Given the description of an element on the screen output the (x, y) to click on. 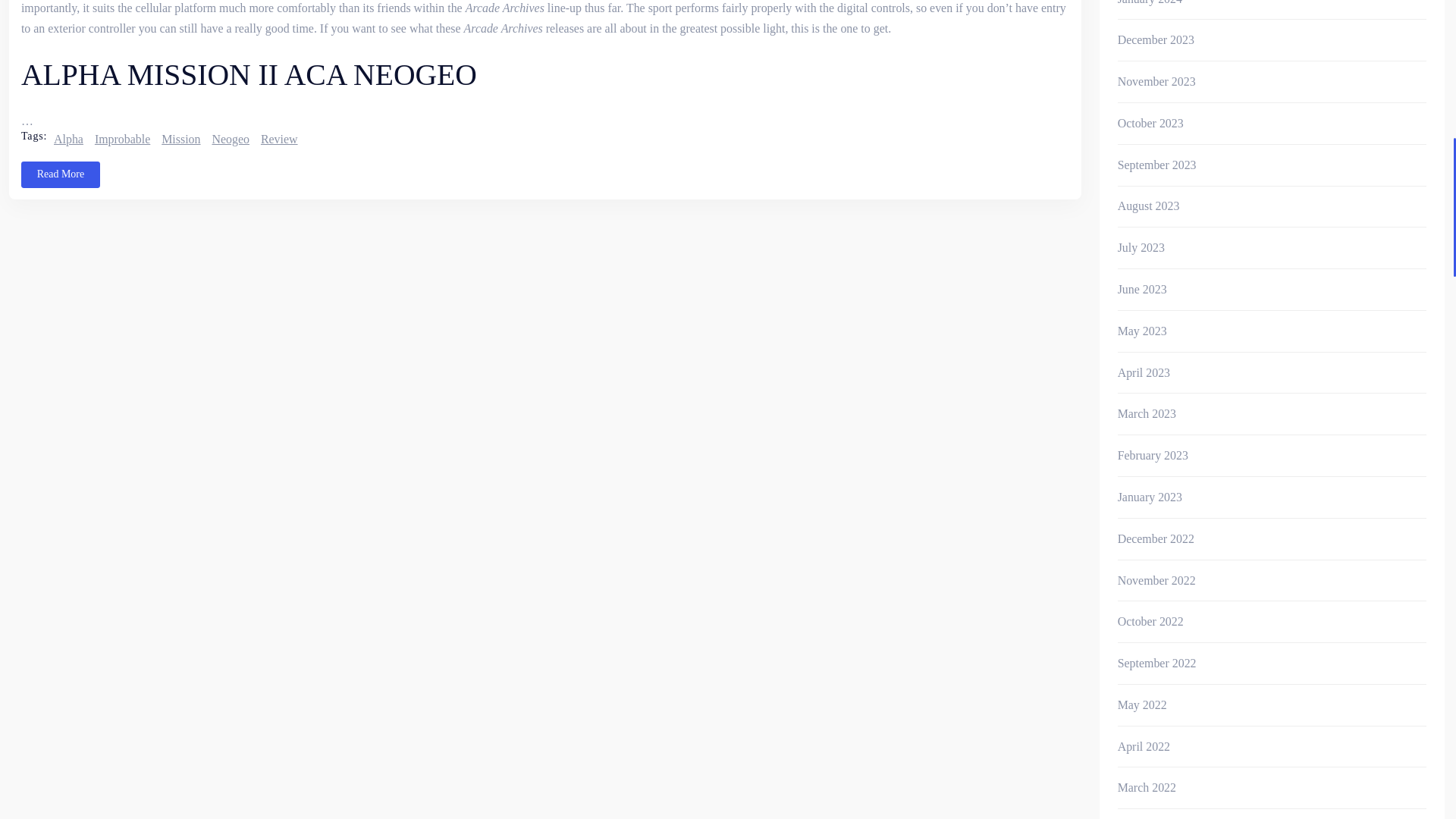
Neogeo (232, 139)
Review (280, 139)
Mission (182, 139)
Read More (60, 174)
Alpha (70, 139)
Improbable (124, 139)
